Given the description of an element on the screen output the (x, y) to click on. 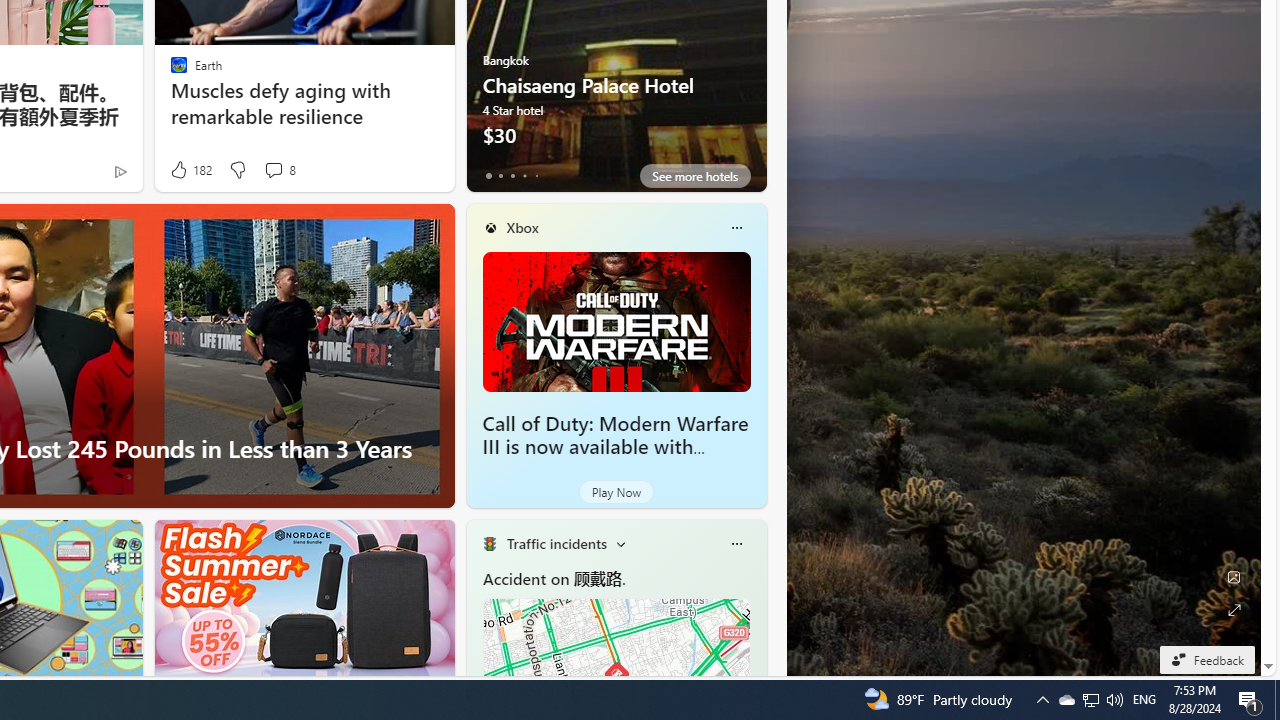
View comments 8 Comment (279, 170)
See more hotels (694, 175)
Change scenarios (620, 543)
Edit Background (1233, 577)
tab-4 (535, 175)
tab-2 (511, 175)
Traffic incidents (555, 543)
Traffic Title Traffic Light (489, 543)
